Given the description of an element on the screen output the (x, y) to click on. 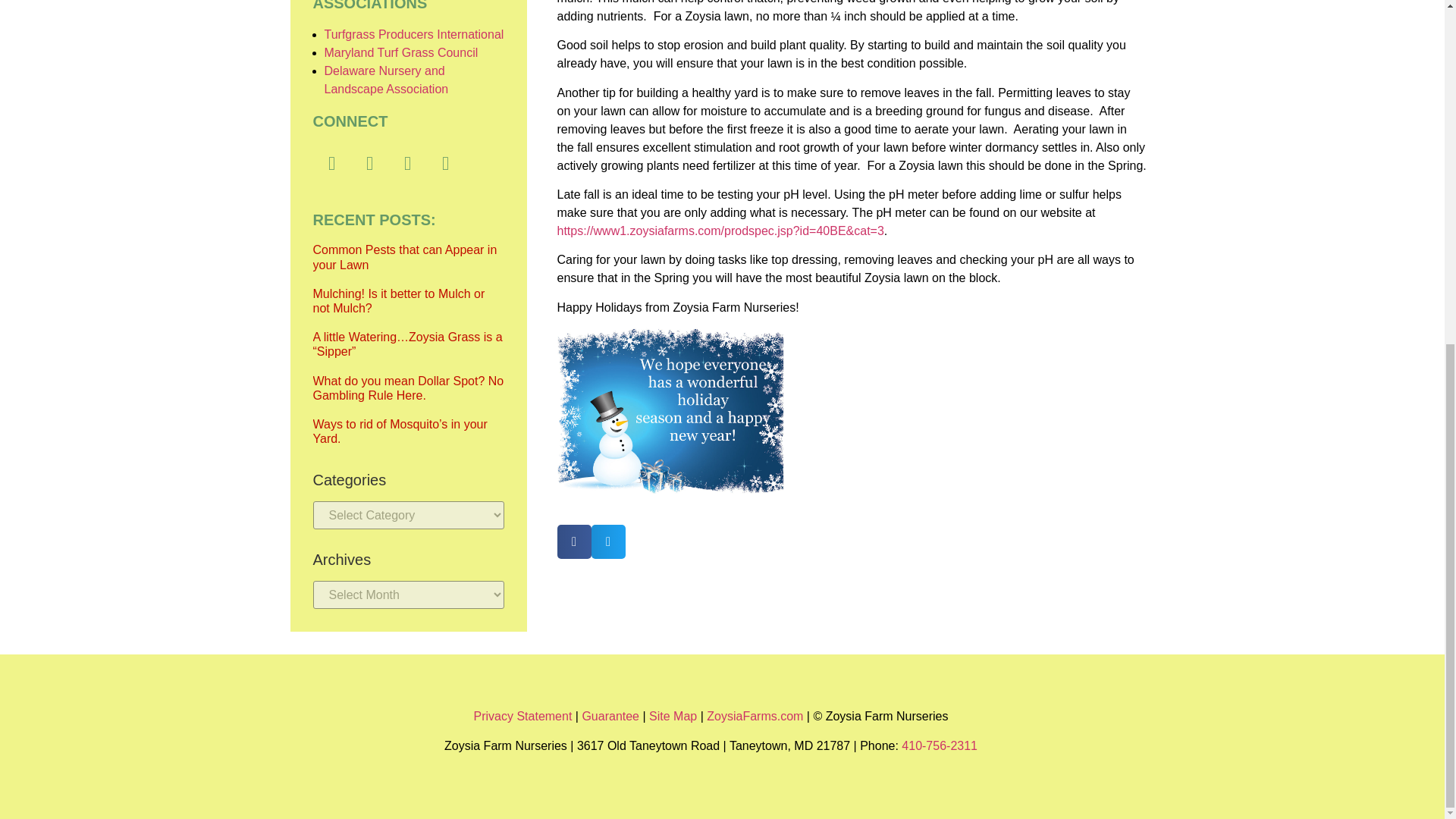
Delaware Nursery and Landscape Association (386, 79)
Mulching! Is it better to Mulch or not Mulch? (398, 300)
What do you mean Dollar Spot? No Gambling Rule Here. (408, 388)
Site Map (673, 716)
Turfgrass Producers International (413, 33)
Maryland Turf Grass Council (401, 51)
410-756-2311 (938, 745)
Privacy Statement (523, 716)
Guarantee (609, 716)
Common Pests that can Appear in your Lawn (404, 257)
ZoysiaFarms.com (754, 716)
